Given the description of an element on the screen output the (x, y) to click on. 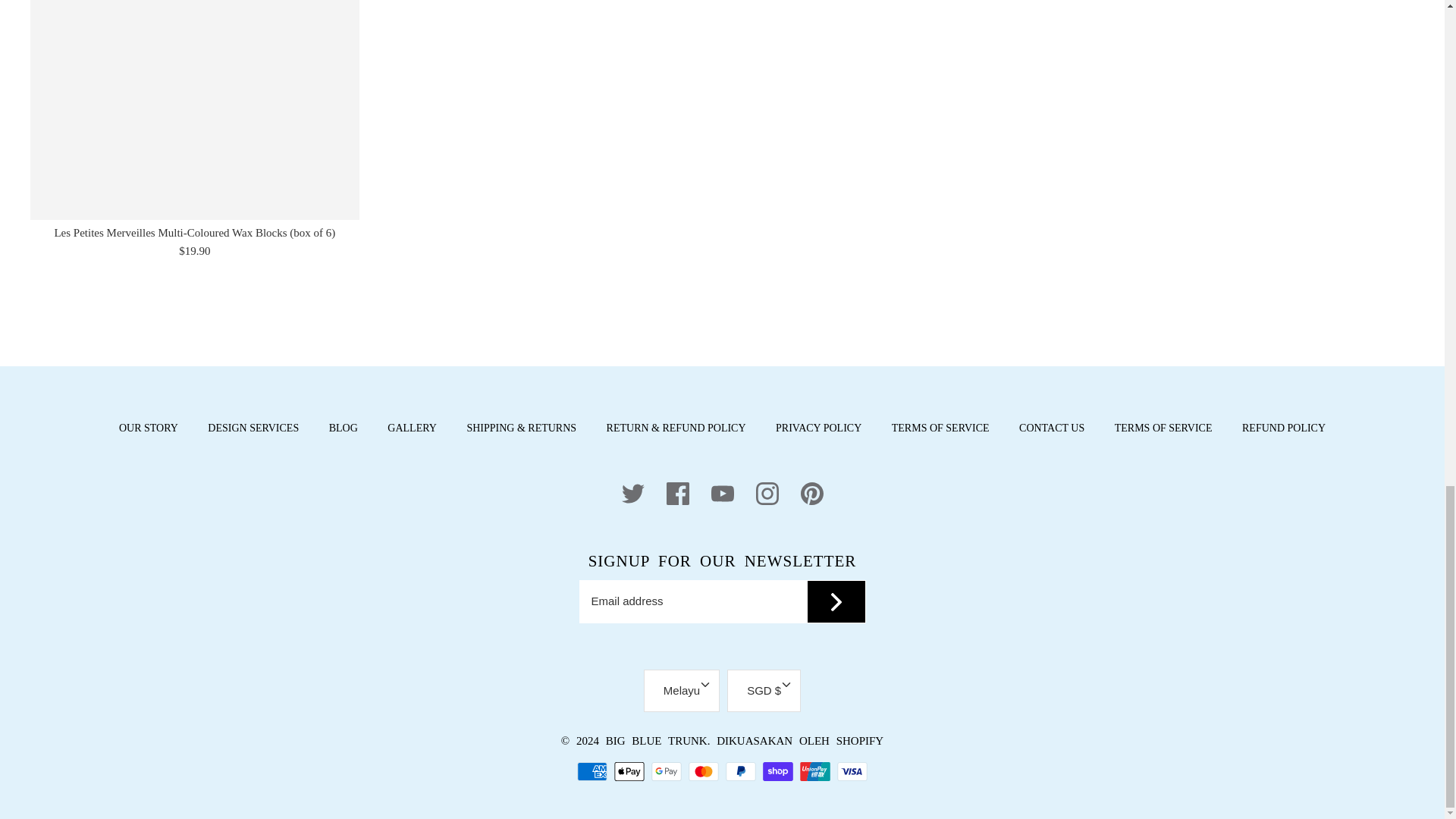
TWITTER (633, 493)
